Given the description of an element on the screen output the (x, y) to click on. 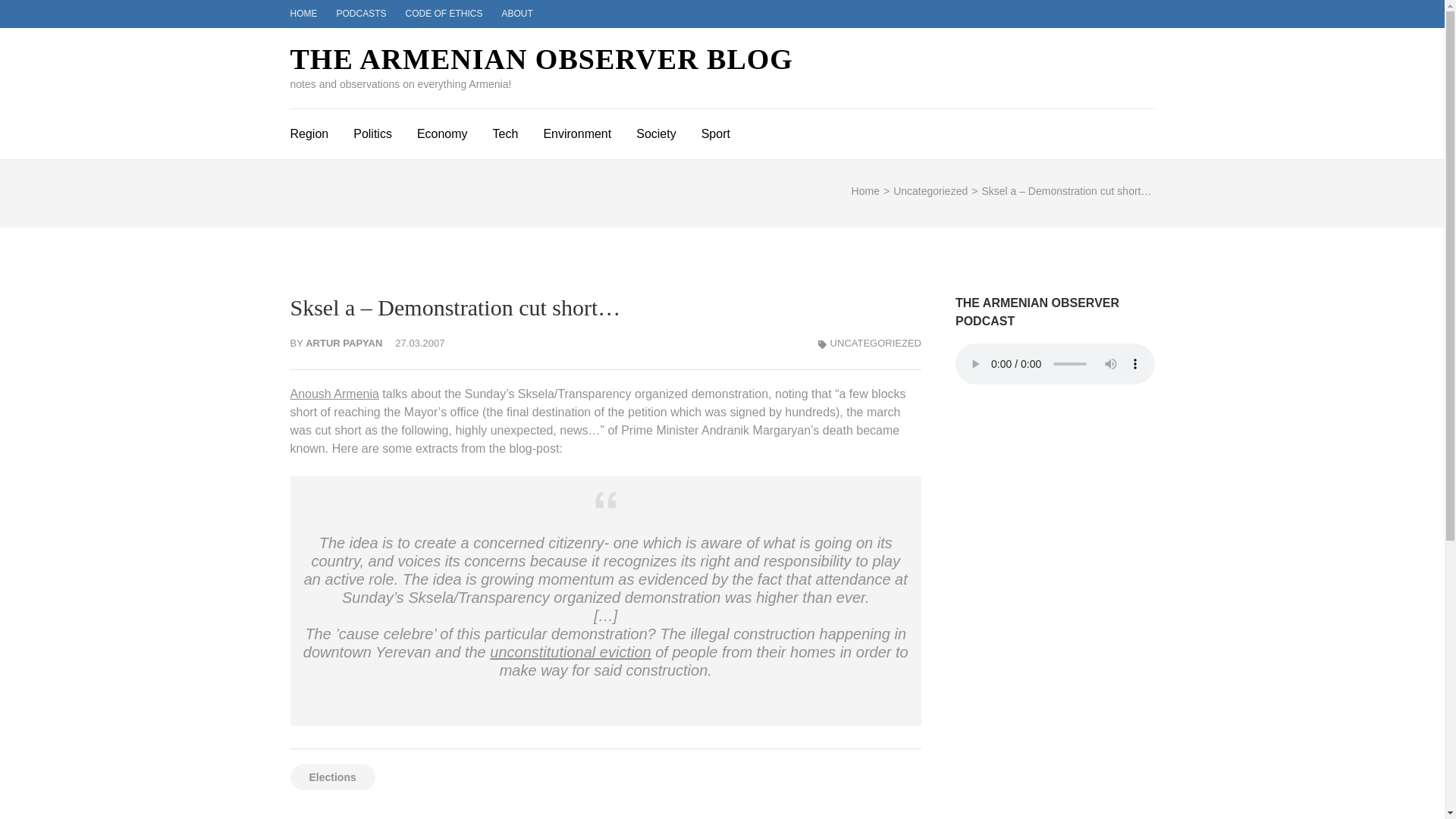
PODCASTS (361, 13)
Economy (441, 131)
THE ARMENIAN OBSERVER BLOG (540, 59)
HOME (303, 13)
ABOUT (517, 13)
Environment (577, 131)
CODE OF ETHICS (444, 13)
